Given the description of an element on the screen output the (x, y) to click on. 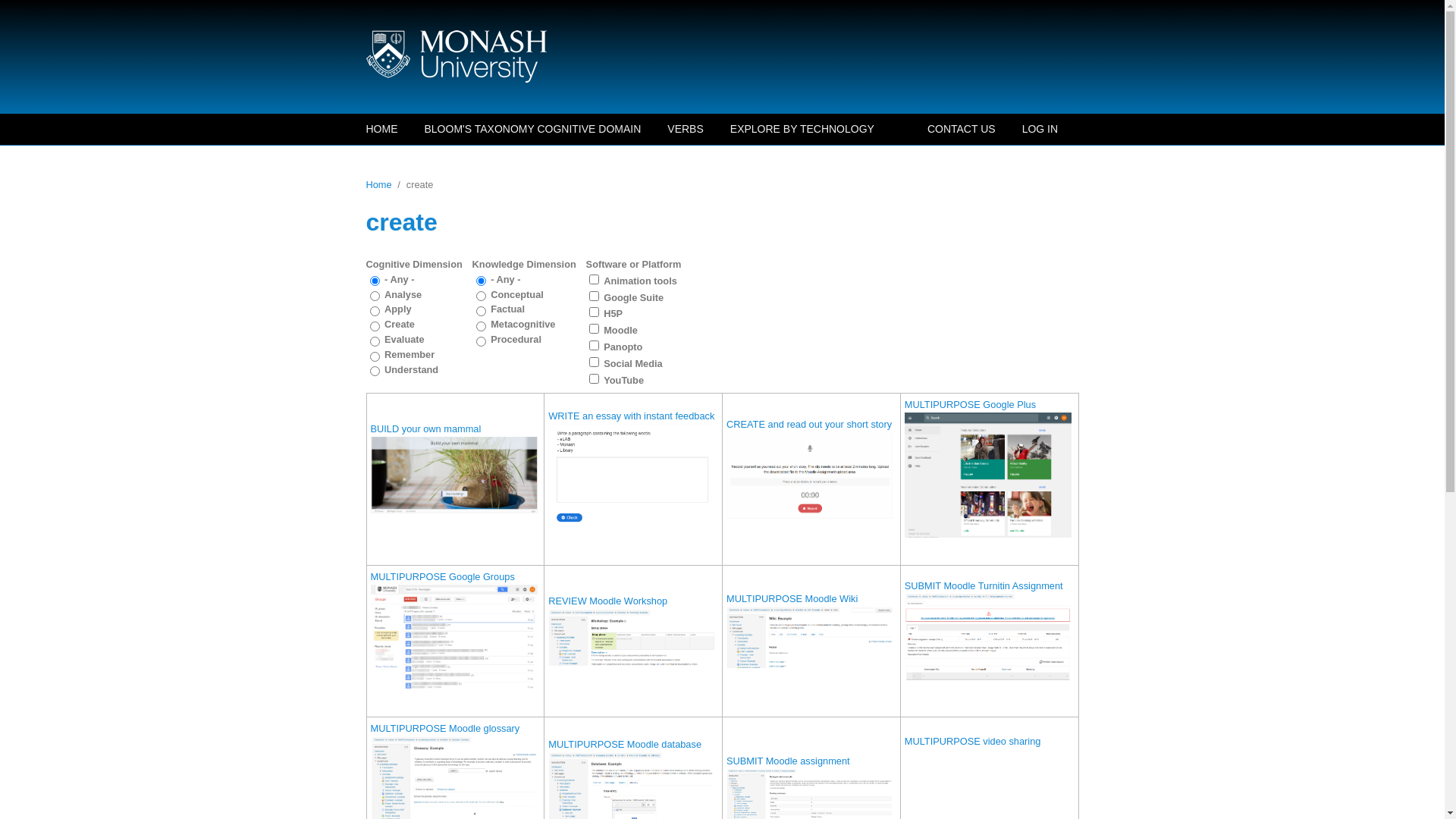
VERBS Element type: text (684, 128)
EXPLORE BY TECHNOLOGY Element type: text (802, 128)
REVIEW Moodle Workshop Element type: text (607, 600)
MULTIPURPOSE Google Plus Element type: text (969, 404)
Home Element type: text (378, 184)
Skip to main content Element type: text (43, 0)
SUBMIT Moodle assignment Element type: text (788, 760)
MULTIPURPOSE video sharing Element type: text (972, 740)
SUBMIT Moodle Turnitin Assignment Element type: text (983, 585)
HOME Element type: text (383, 128)
Apply Element type: text (25, 10)
MULTIPURPOSE Moodle database Element type: text (624, 743)
MULTIPURPOSE Moodle Wiki Element type: text (791, 598)
MULTIPURPOSE Moodle glossary Element type: text (444, 728)
BUILD your own mammal Element type: text (425, 428)
CONTACT US Element type: text (961, 128)
MULTIPURPOSE Google Groups Element type: text (442, 576)
CREATE and read out your short story Element type: text (808, 423)
WRITE an essay with instant feedback Element type: text (631, 415)
LOG IN Element type: text (1037, 128)
BLOOM'S TAXONOMY COGNITIVE DOMAIN Element type: text (532, 128)
Home Element type: hover (600, 56)
